Given the description of an element on the screen output the (x, y) to click on. 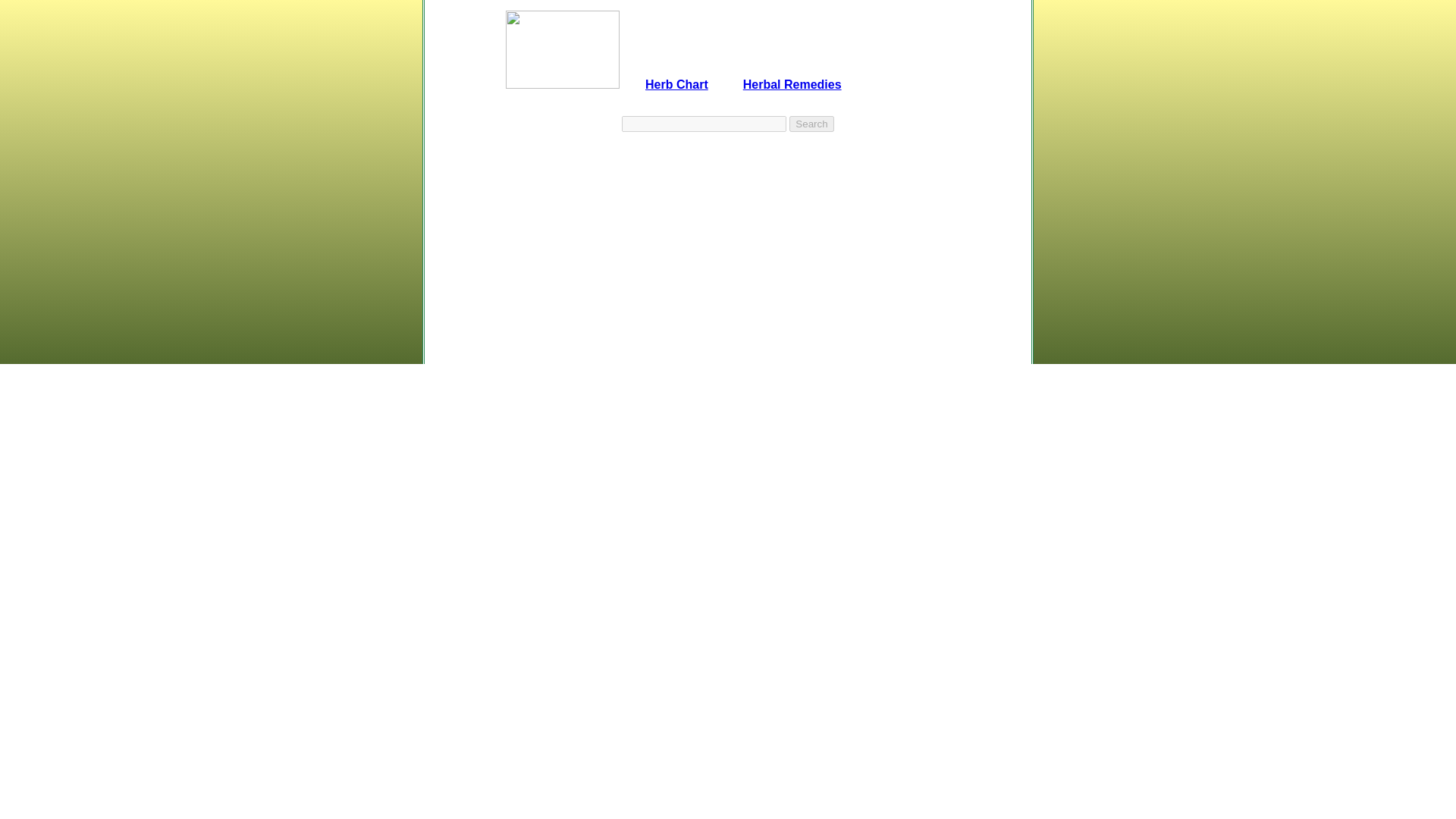
Search (810, 123)
Herb Store (907, 78)
Search (810, 123)
Herb Chart (676, 78)
Herbal Remedies (791, 78)
